Given the description of an element on the screen output the (x, y) to click on. 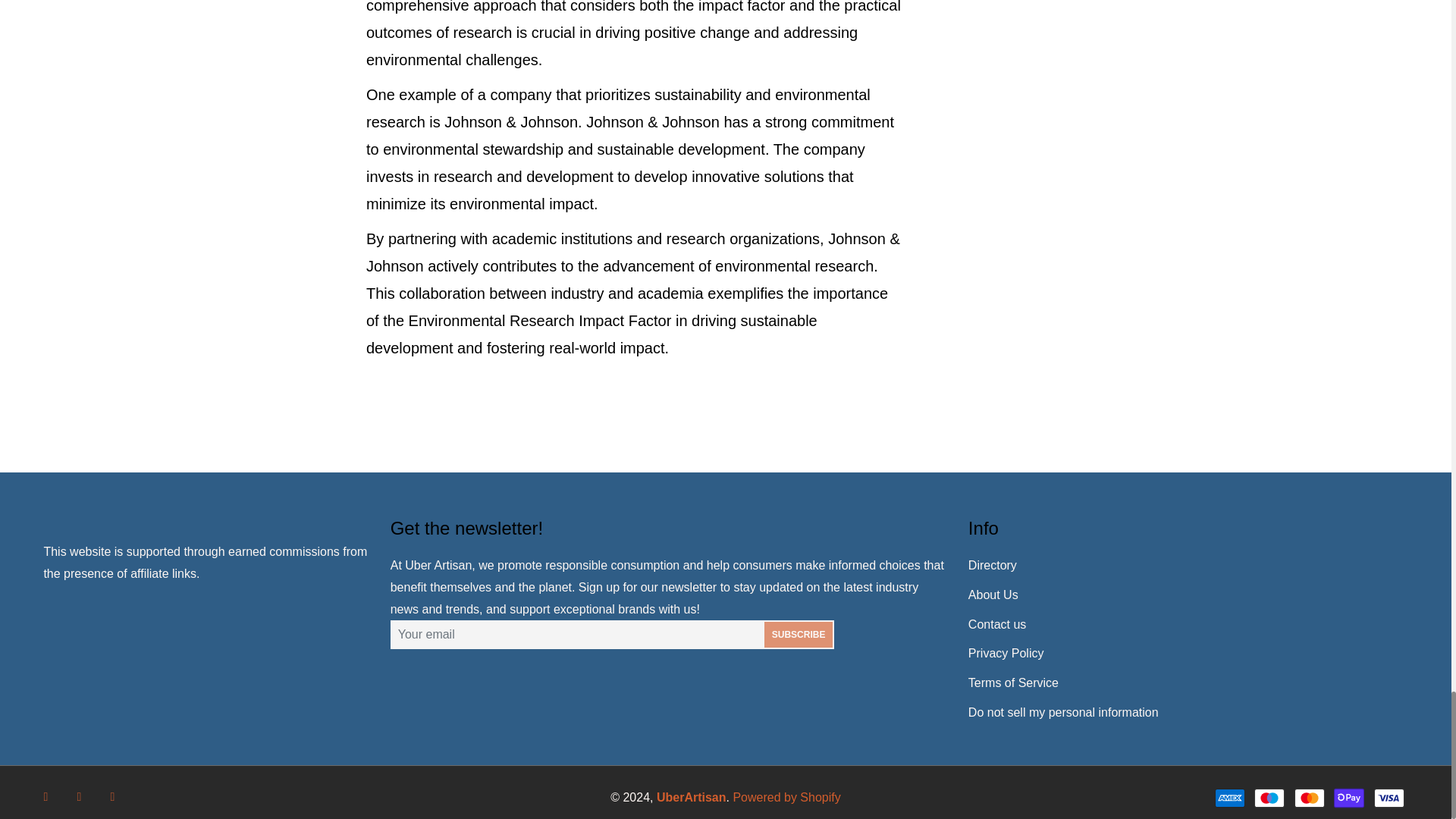
Directory (992, 564)
About Us (992, 594)
SUBSCRIBE (798, 634)
Contact us (997, 624)
Terms of Service (1013, 682)
Privacy Policy (1005, 653)
